Given the description of an element on the screen output the (x, y) to click on. 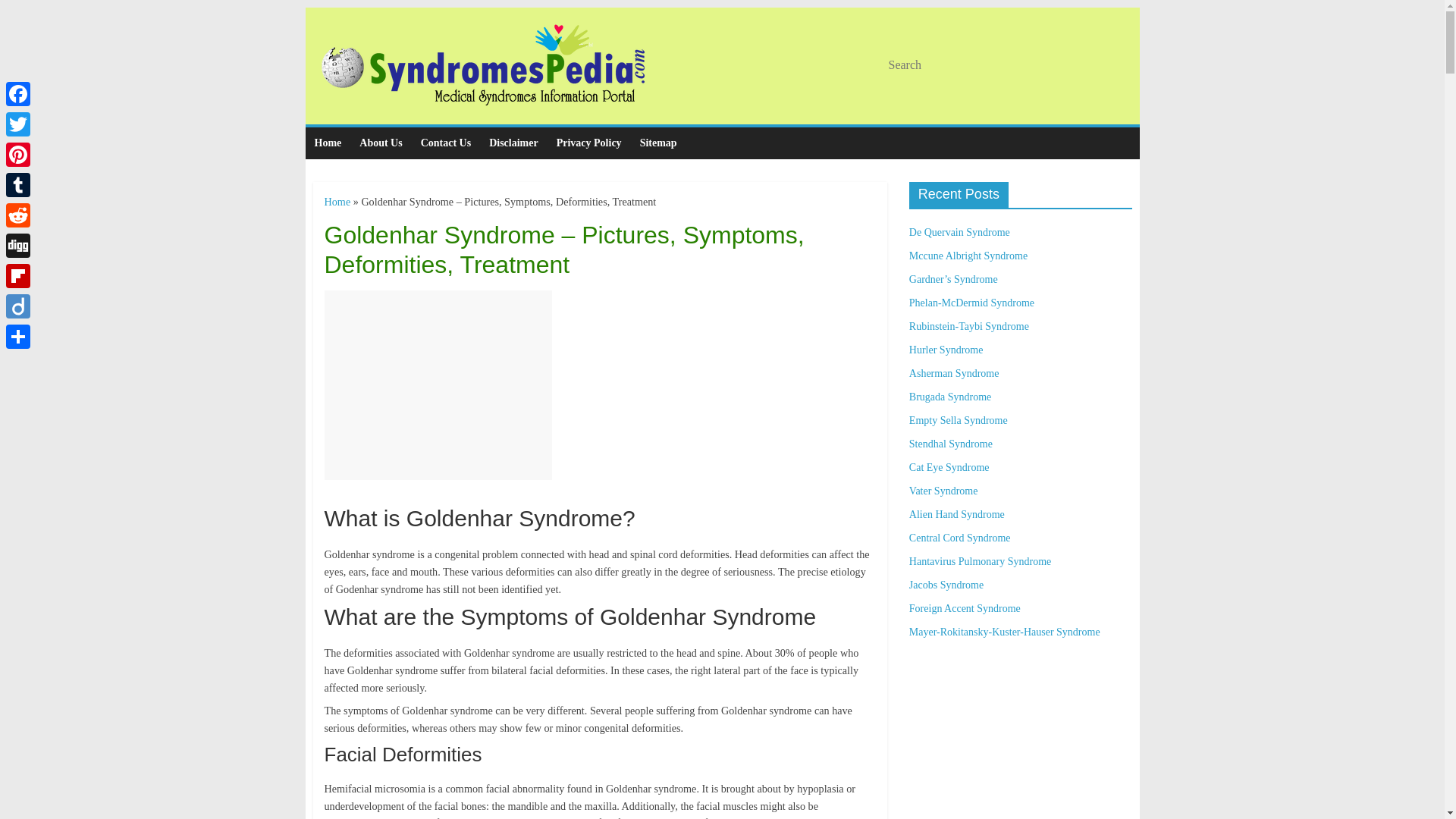
Advertisement (437, 384)
Disclaimer (513, 142)
About Us (380, 142)
Home (327, 142)
Contact Us (446, 142)
Privacy Policy (588, 142)
Sitemap (657, 142)
Home (337, 201)
